Given the description of an element on the screen output the (x, y) to click on. 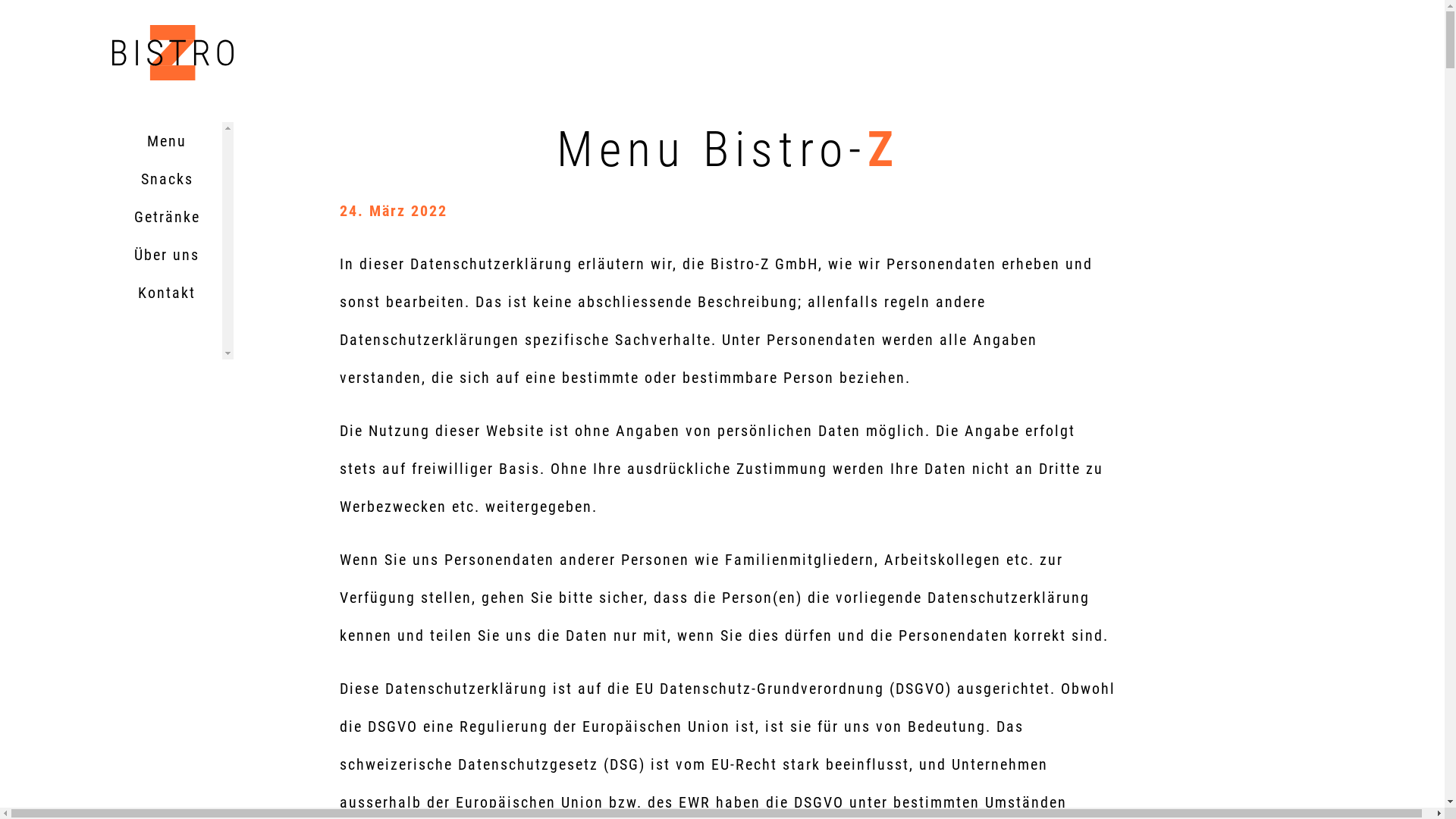
Menu Element type: text (166, 140)
Snacks Element type: text (167, 178)
Kontakt Element type: text (166, 292)
